Given the description of an element on the screen output the (x, y) to click on. 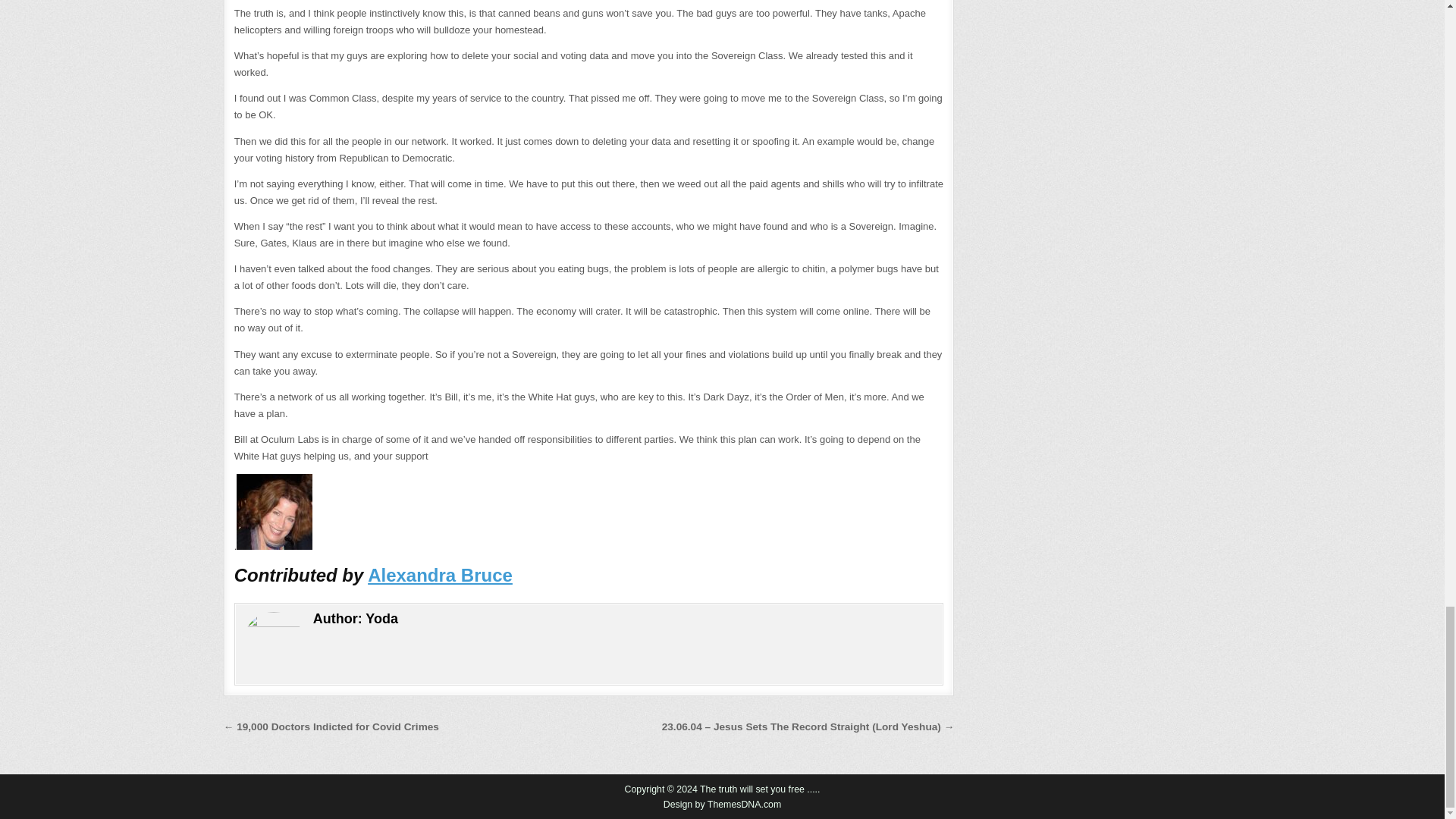
Alexandra Bruce (440, 575)
